Given the description of an element on the screen output the (x, y) to click on. 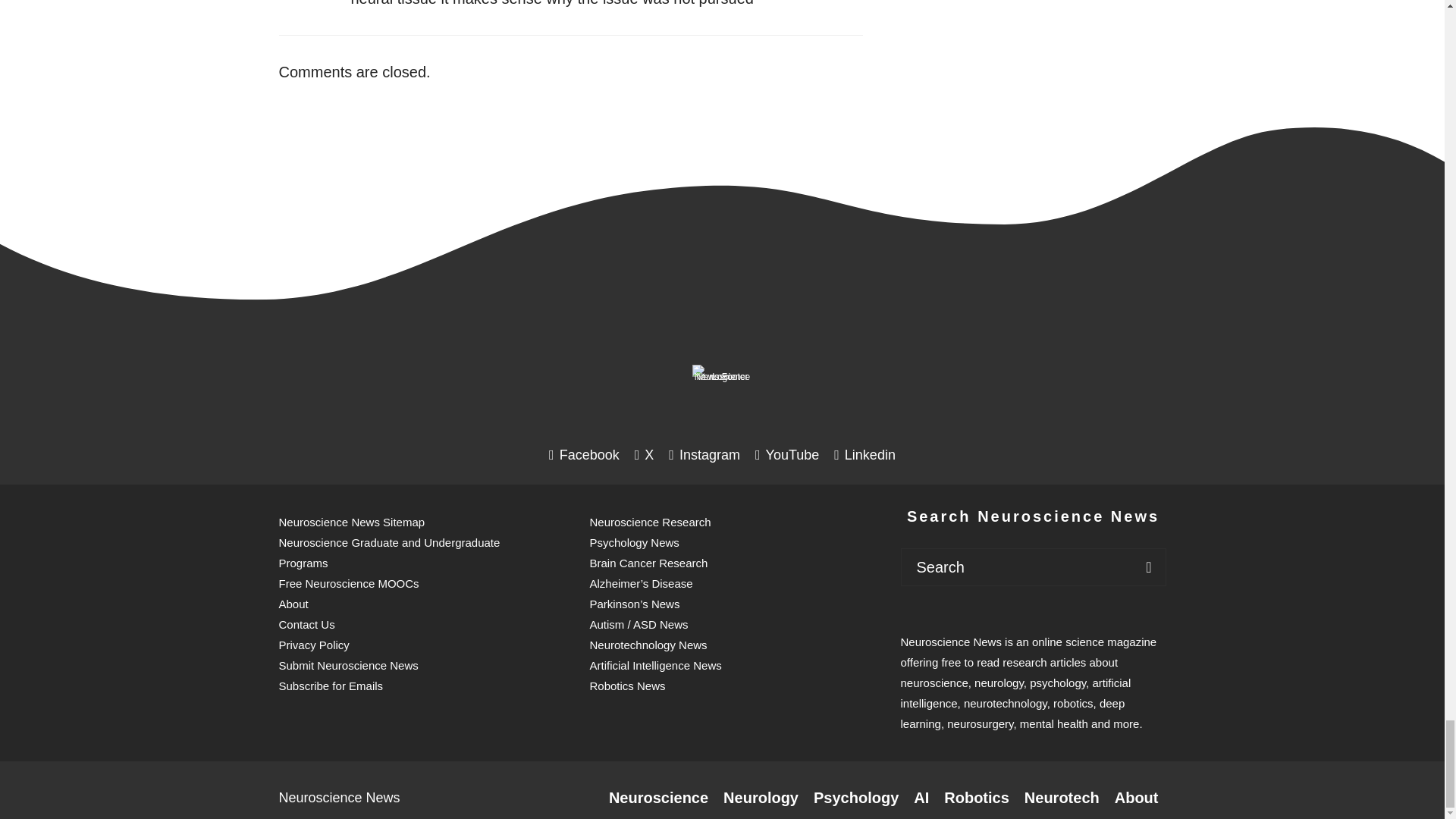
Psychology Research Articles (855, 797)
Neurology Research Articles (760, 797)
Neuroscience Research (657, 797)
